Given the description of an element on the screen output the (x, y) to click on. 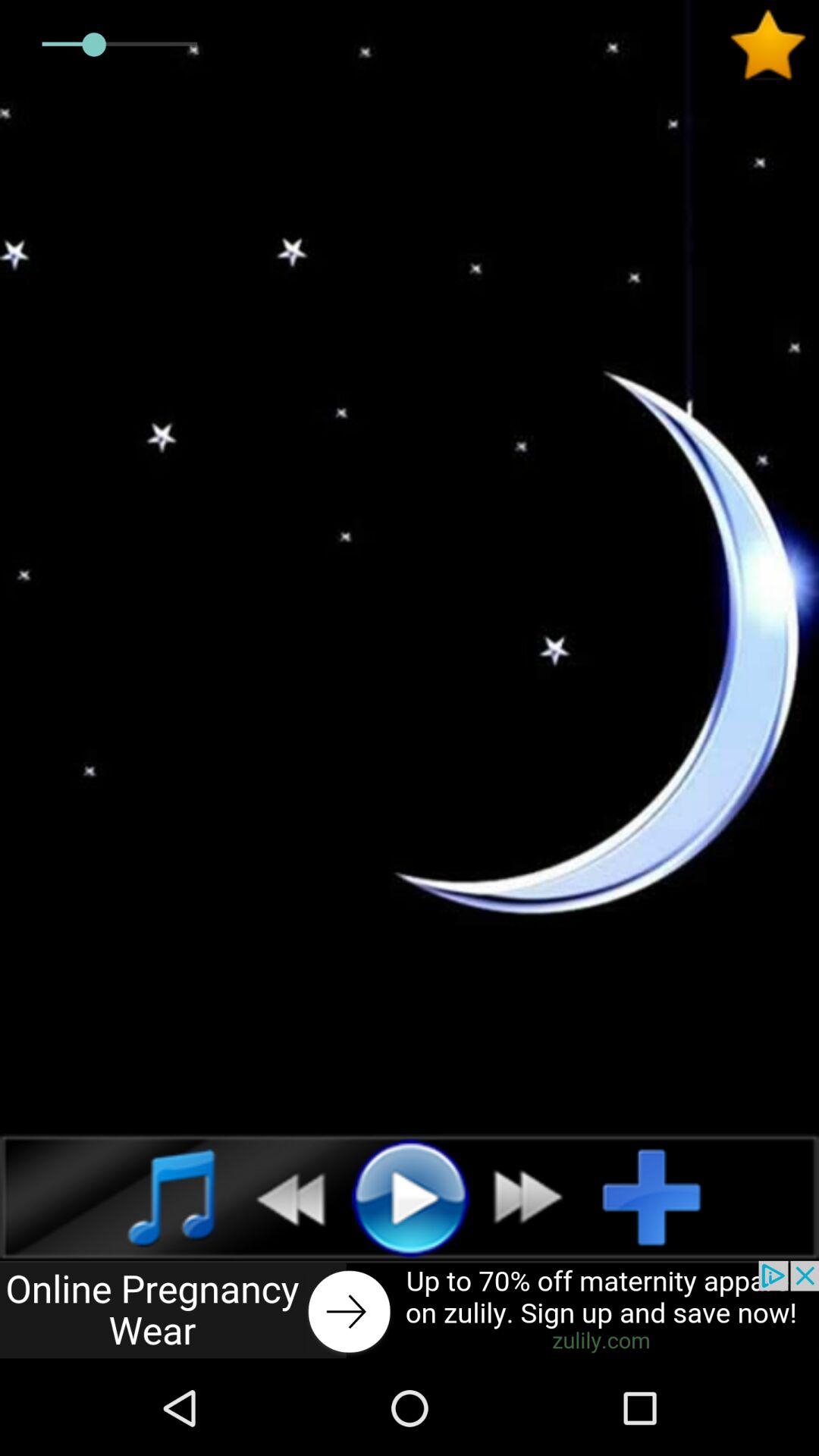
select music (154, 1196)
